Given the description of an element on the screen output the (x, y) to click on. 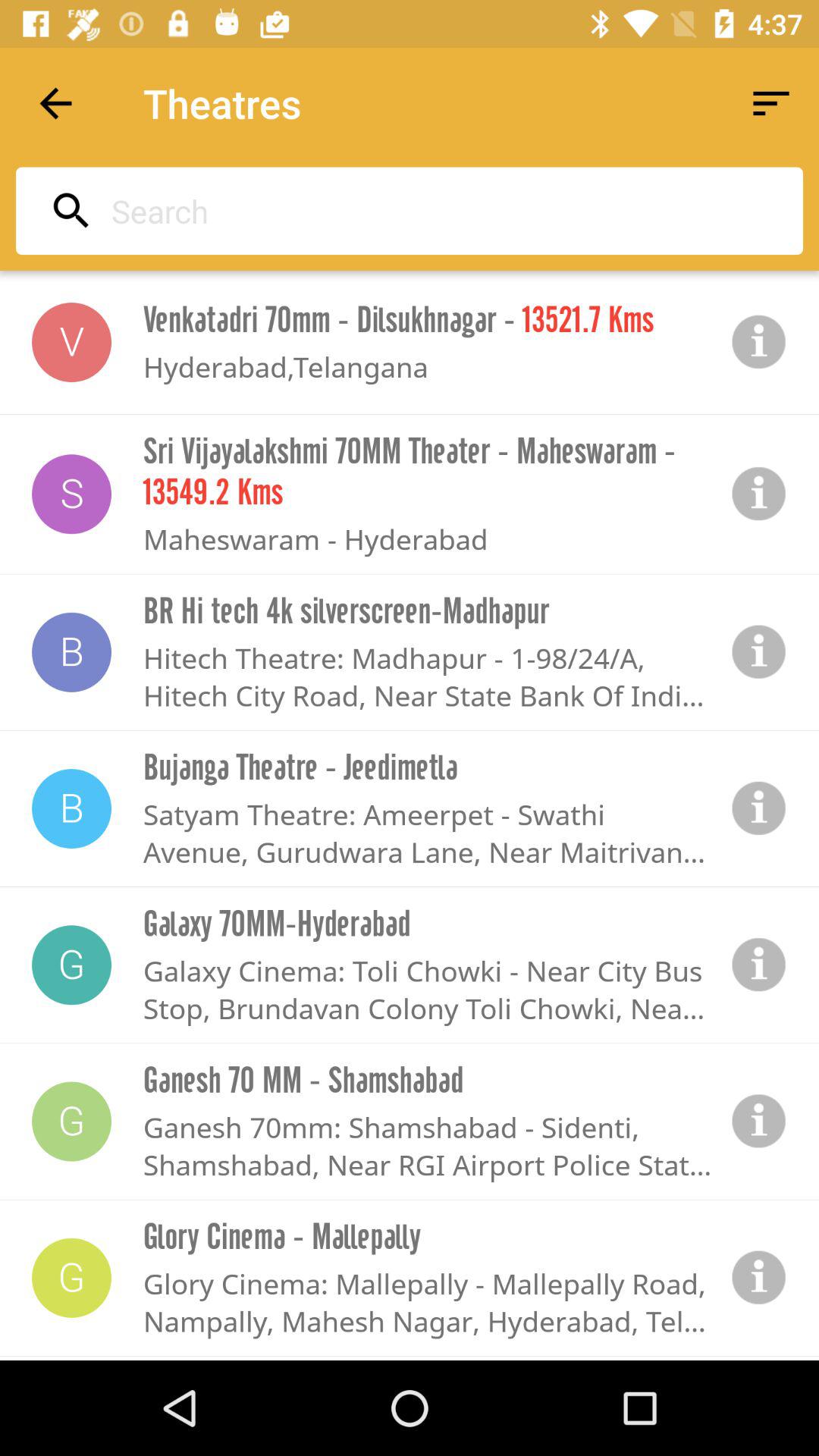
tap button for more information (759, 494)
